Given the description of an element on the screen output the (x, y) to click on. 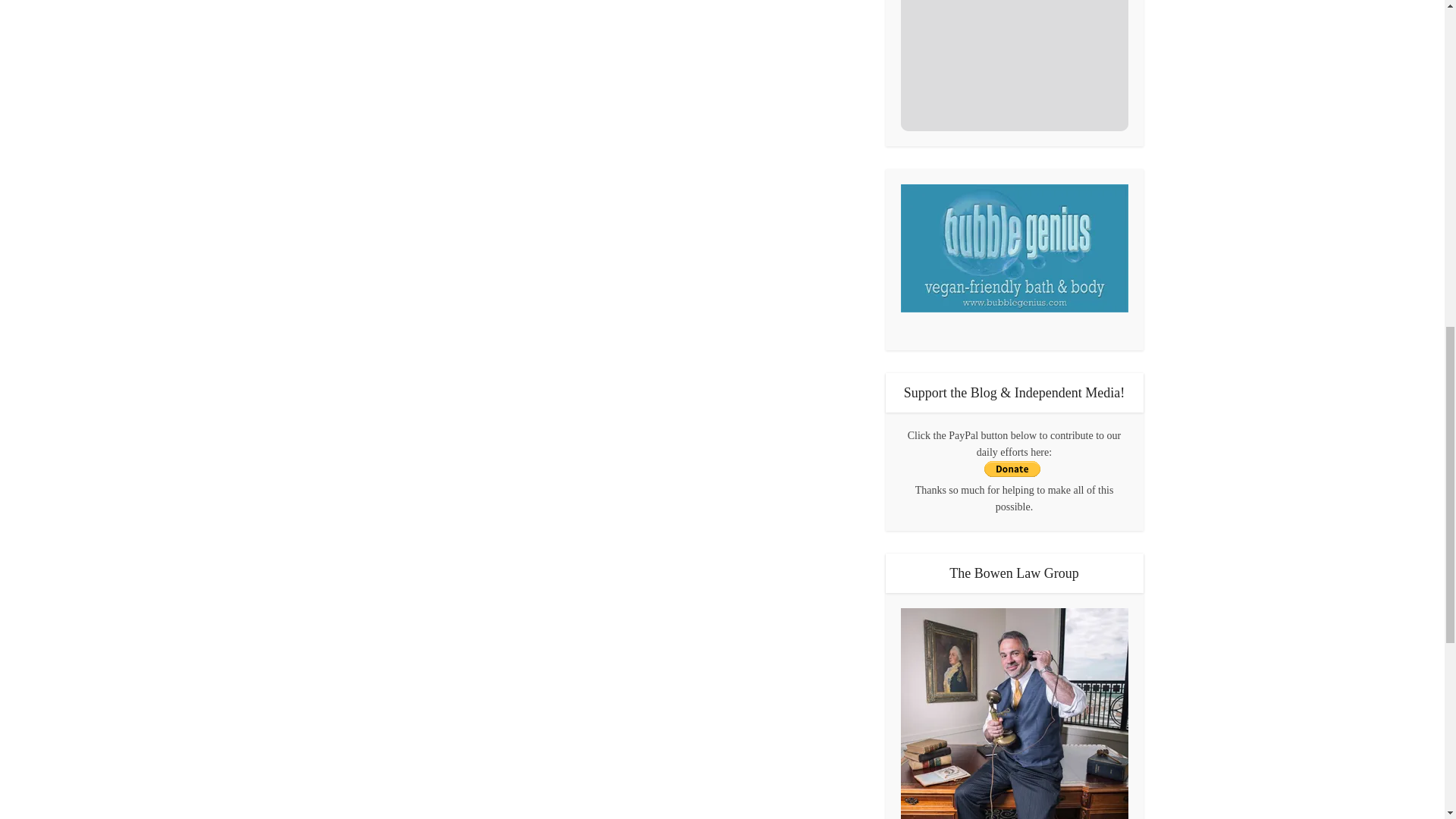
PayPal - The safer, easier way to pay online! (1012, 468)
